Given the description of an element on the screen output the (x, y) to click on. 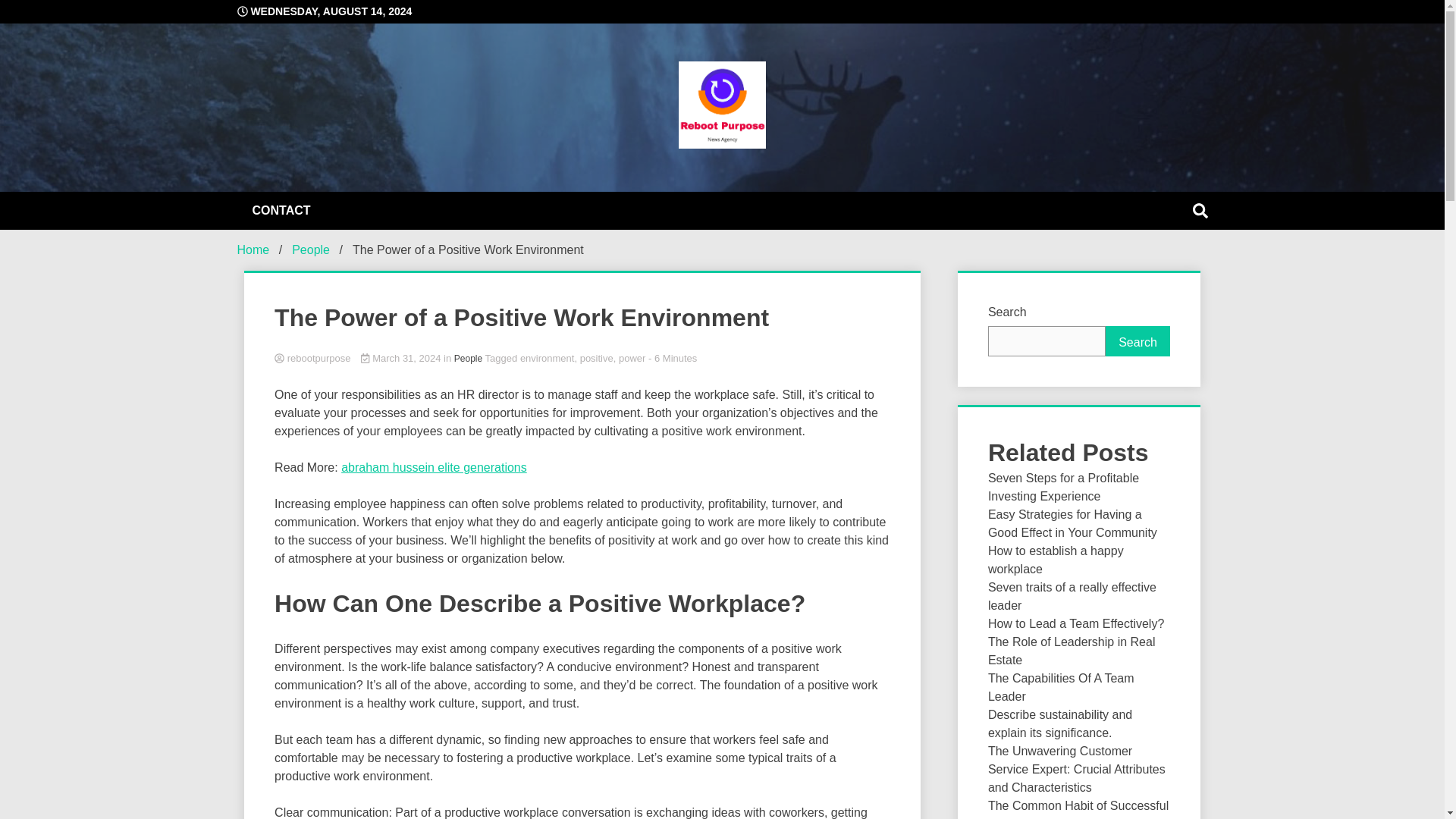
Easy Strategies for Having a Good Effect in Your Community (1072, 522)
Search (1137, 340)
Home (252, 249)
March 31, 2024 (402, 357)
environment (547, 357)
CONTACT (279, 210)
power (631, 357)
People (311, 249)
Describe sustainability and explain its significance. (1060, 723)
How to establish a happy workplace (1056, 559)
